Given the description of an element on the screen output the (x, y) to click on. 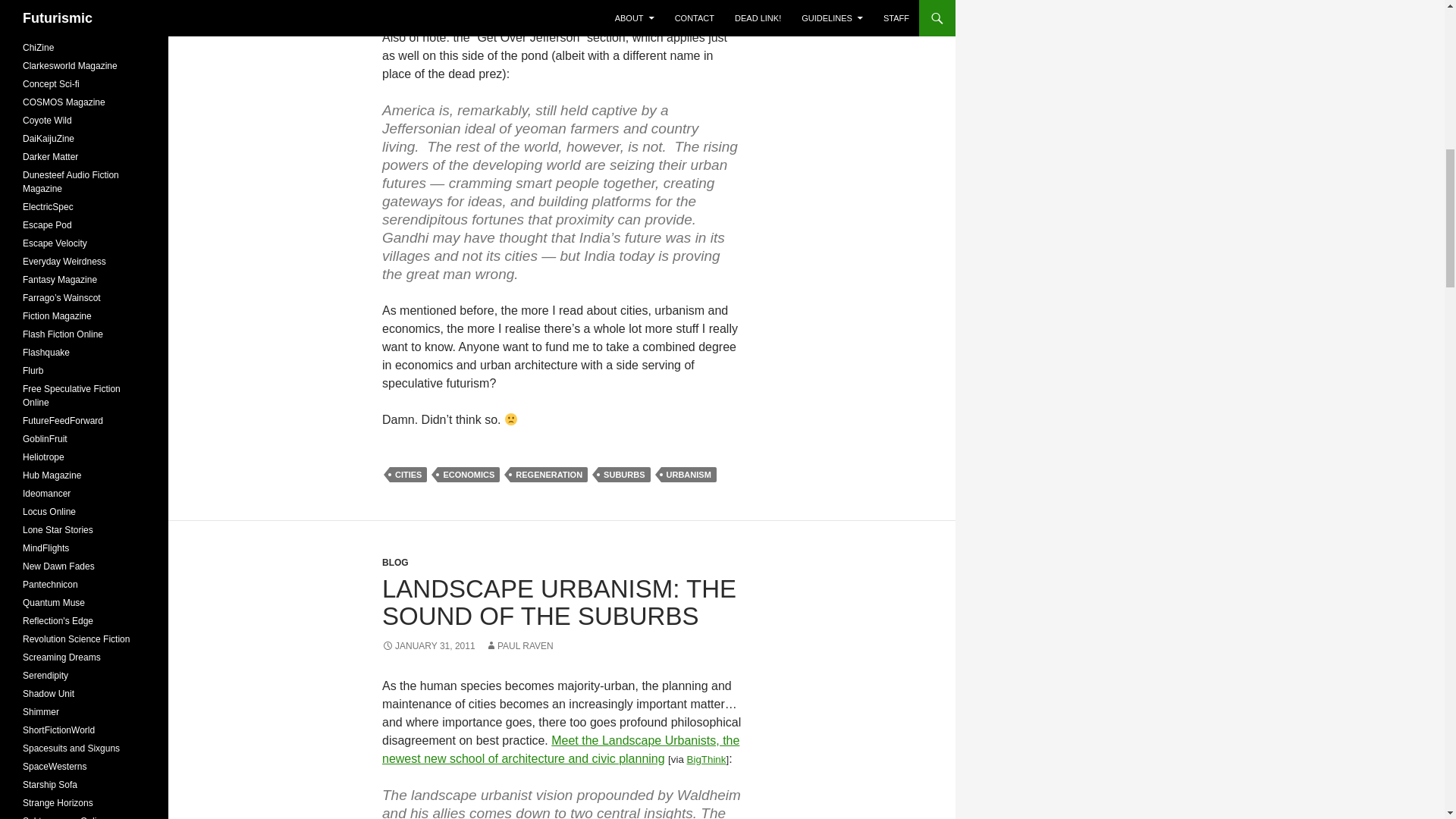
City Planning at Crossroads - BigThink (706, 758)
JANUARY 31, 2011 (428, 645)
URBANISM (688, 474)
SUBURBS (623, 474)
REGENERATION (549, 474)
Green building - Boston Globe (560, 748)
LANDSCAPE URBANISM: THE SOUND OF THE SUBURBS (558, 601)
CITIES (408, 474)
PAUL RAVEN (518, 645)
ECONOMICS (468, 474)
